Given the description of an element on the screen output the (x, y) to click on. 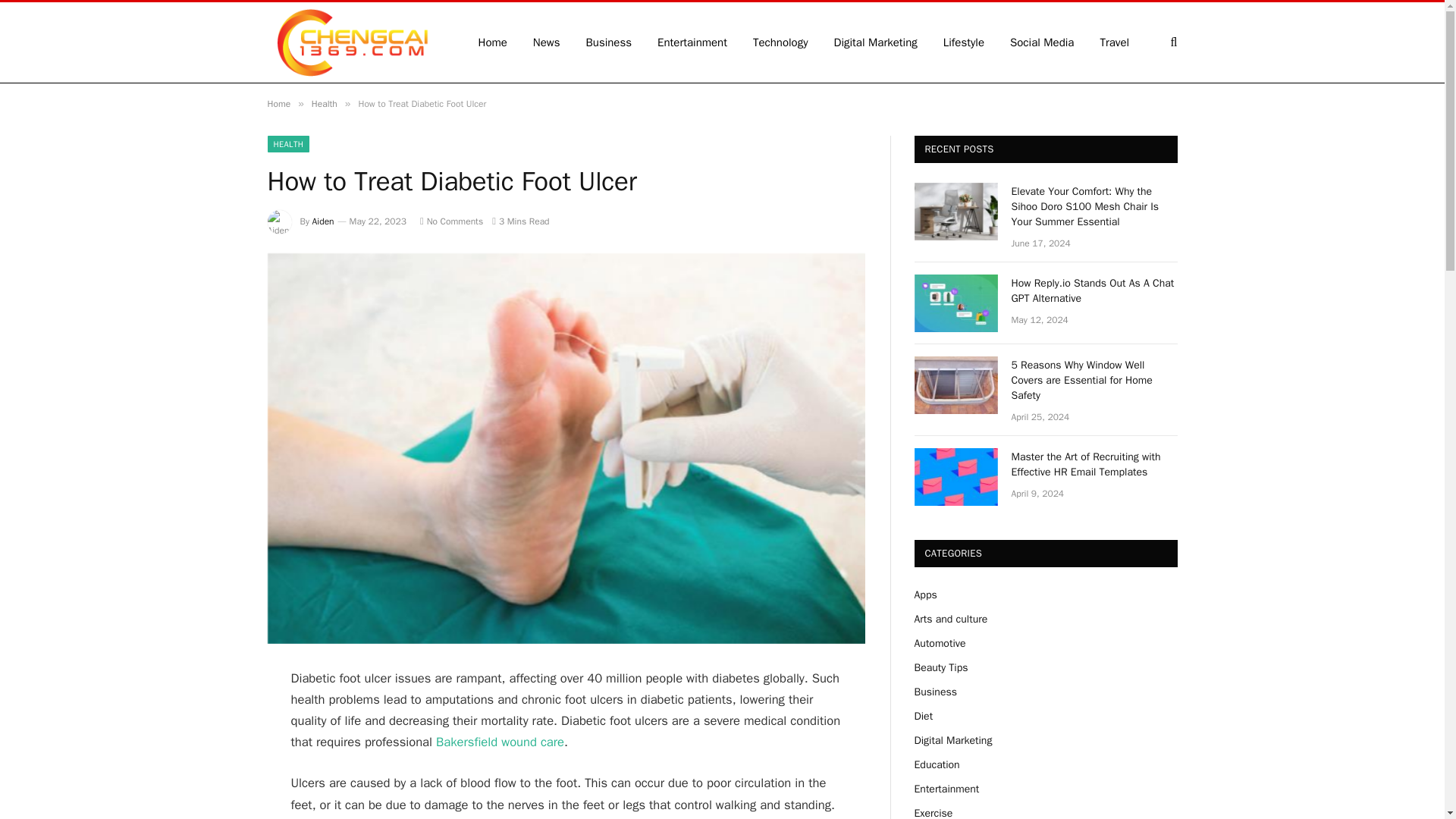
How Reply.io Stands Out As A Chat GPT Alternative (1094, 291)
Bakersfield wound care (498, 741)
Technology (780, 42)
Social Media (1041, 42)
HEALTH (287, 143)
Chengcai 1369 (352, 42)
Aiden (323, 221)
Posts by Aiden (323, 221)
Health (324, 103)
Digital Marketing (875, 42)
Entertainment (692, 42)
